Given the description of an element on the screen output the (x, y) to click on. 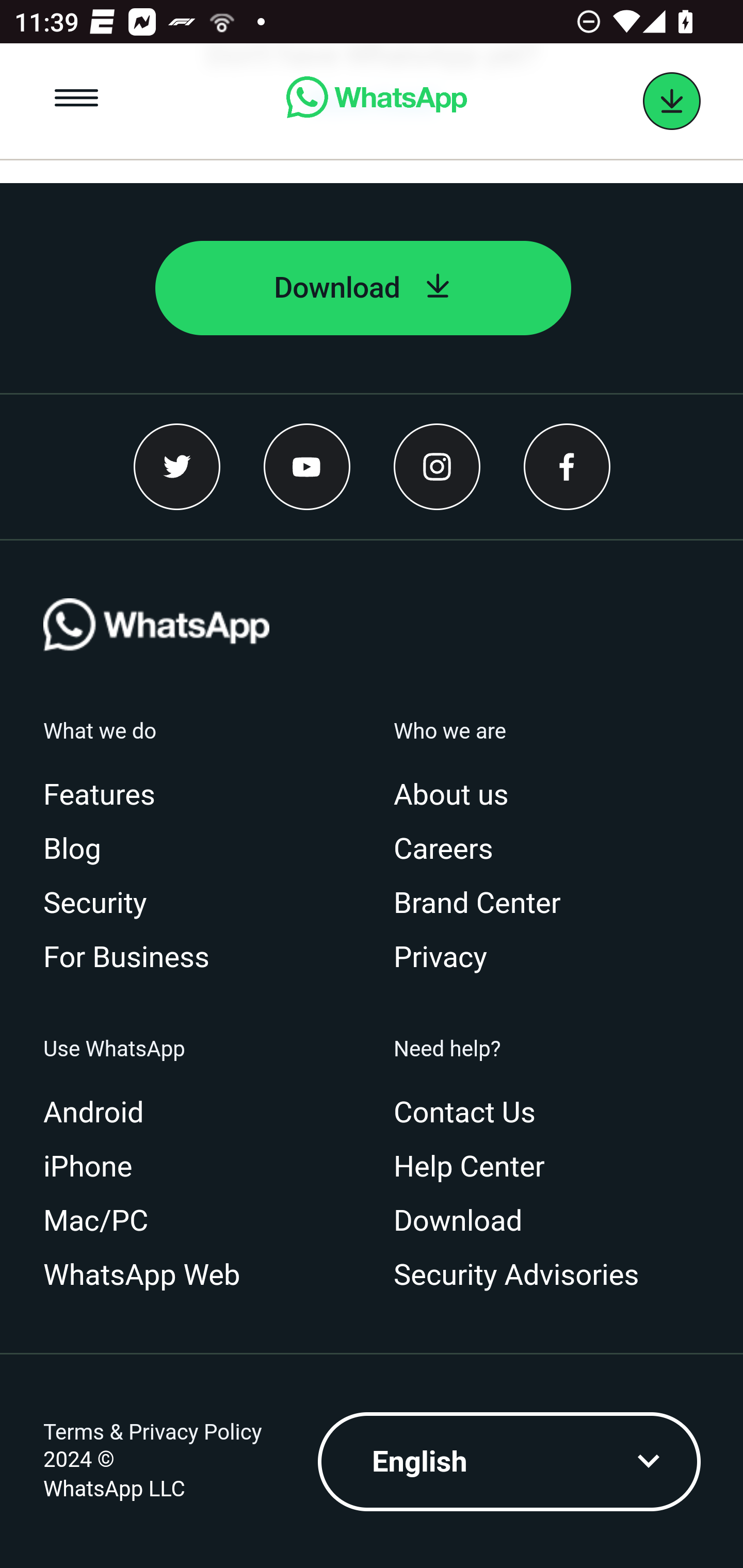
Open mobile menu (77, 101)
details?id=com (672, 101)
WhatsApp Main Page (376, 101)
Download (363, 289)
Twitter (177, 467)
Youtube (307, 467)
Instagram (436, 467)
Facebook (566, 467)
WhatsApp Main Logo (157, 658)
Features (107, 796)
About us (458, 796)
Blog (79, 851)
Careers (450, 851)
Security (102, 904)
Brand Center (484, 904)
For Business (134, 959)
Privacy (447, 959)
Android (101, 1114)
Contact Us (471, 1114)
iPhone (95, 1168)
Help Center (476, 1168)
Mac/PC (103, 1222)
Download (465, 1222)
WhatsApp Web (149, 1276)
Security Advisories (524, 1276)
English (510, 1463)
Terms & Privacy Policy (153, 1433)
